Given the description of an element on the screen output the (x, y) to click on. 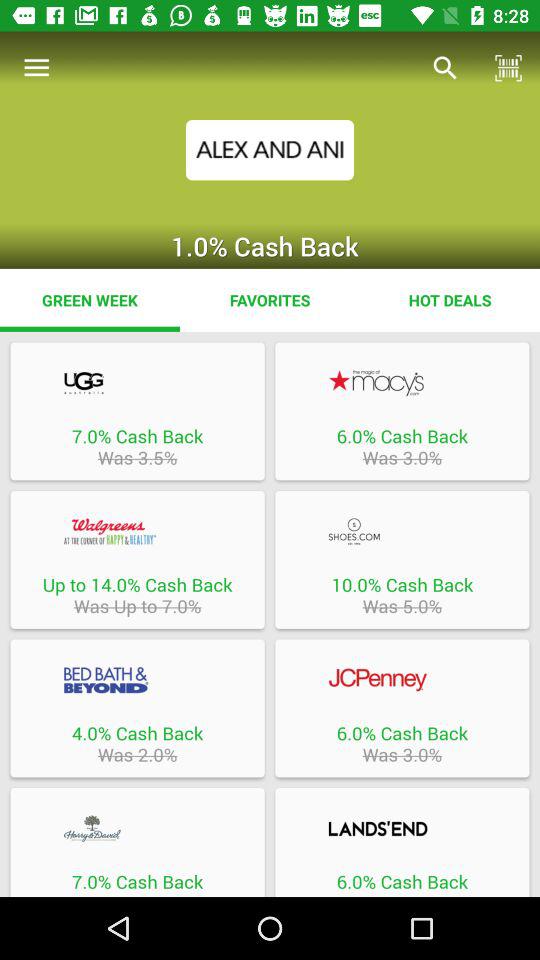
open store offer (137, 828)
